Given the description of an element on the screen output the (x, y) to click on. 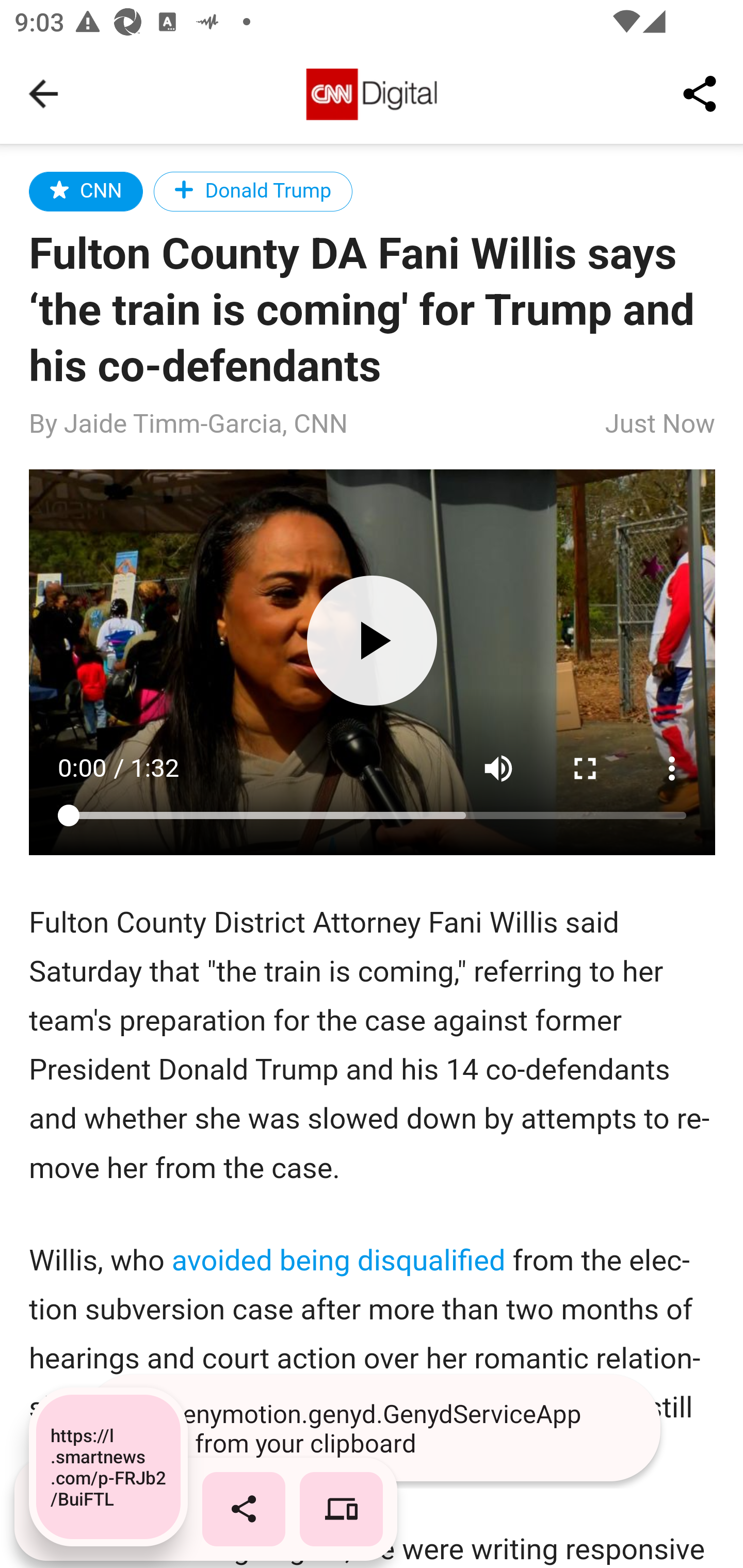
CNN (86, 191)
Donald Trump (253, 191)
play (372, 639)
mute (497, 768)
enter full screen (585, 768)
show more media controls (672, 768)
avoided being disqualified (337, 1258)
